Given the description of an element on the screen output the (x, y) to click on. 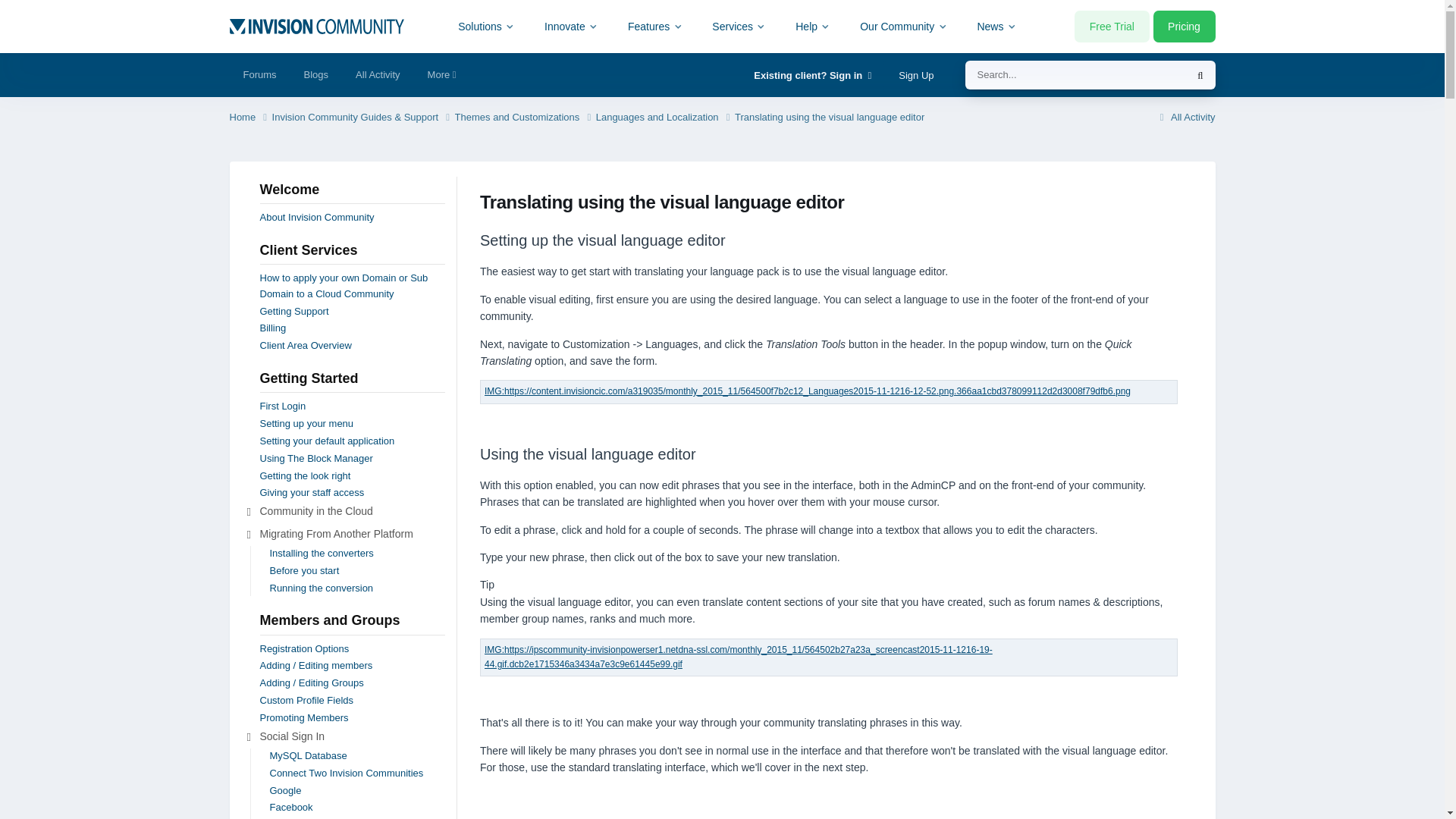
Help (812, 26)
Services (738, 26)
Home (249, 117)
Features (654, 26)
Solutions (486, 26)
Innovate (570, 26)
